Given the description of an element on the screen output the (x, y) to click on. 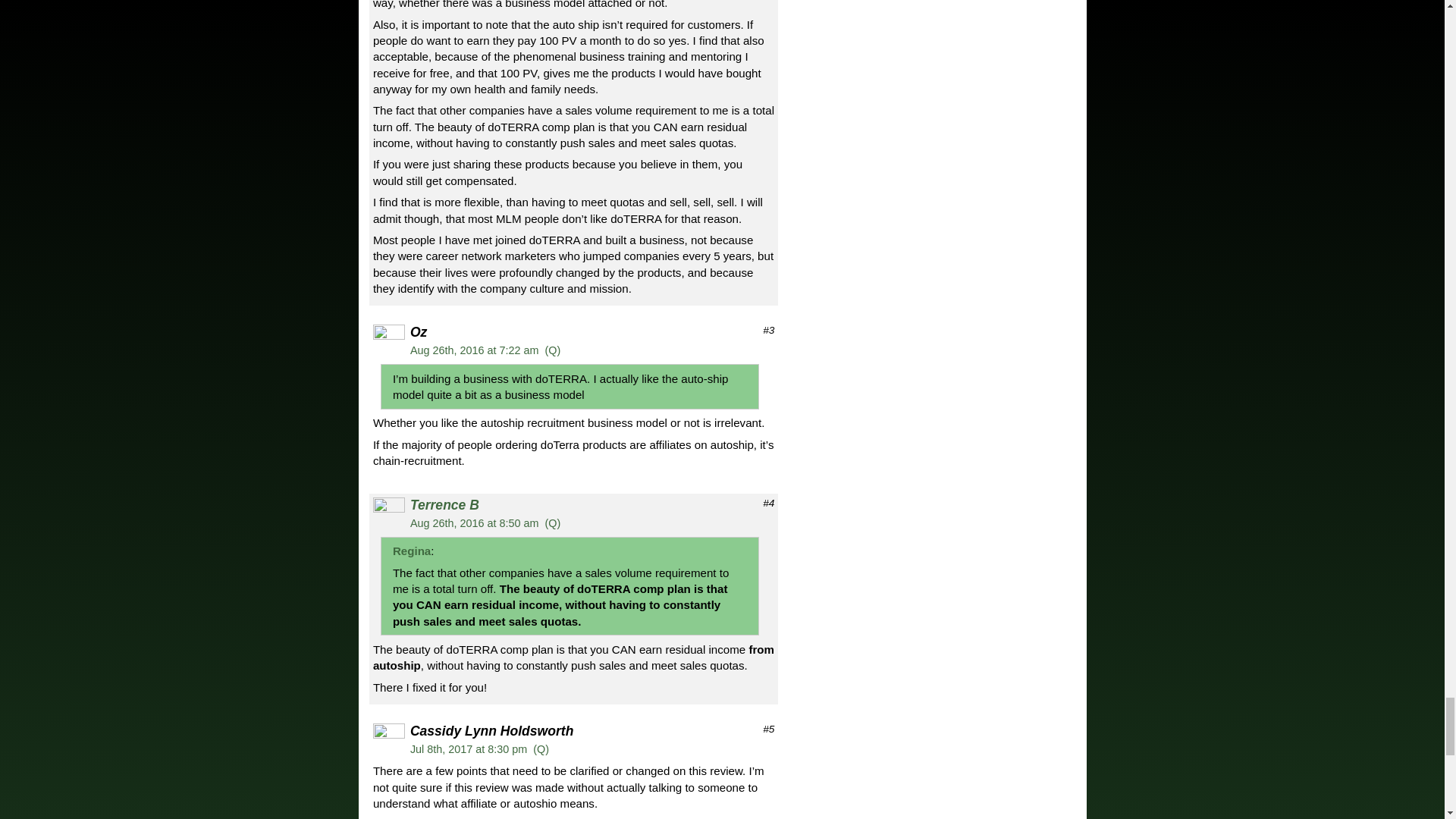
Aug 26th, 2016 at 8:50 am (474, 522)
Click here or select text to quote comment (552, 349)
Click here or select text to quote comment (552, 522)
Regina (411, 550)
Jul 8th, 2017 at 8:30 pm (468, 748)
Terrence B (444, 504)
Aug 26th, 2016 at 7:22 am (474, 349)
Click here or select text to quote comment (540, 748)
